Given the description of an element on the screen output the (x, y) to click on. 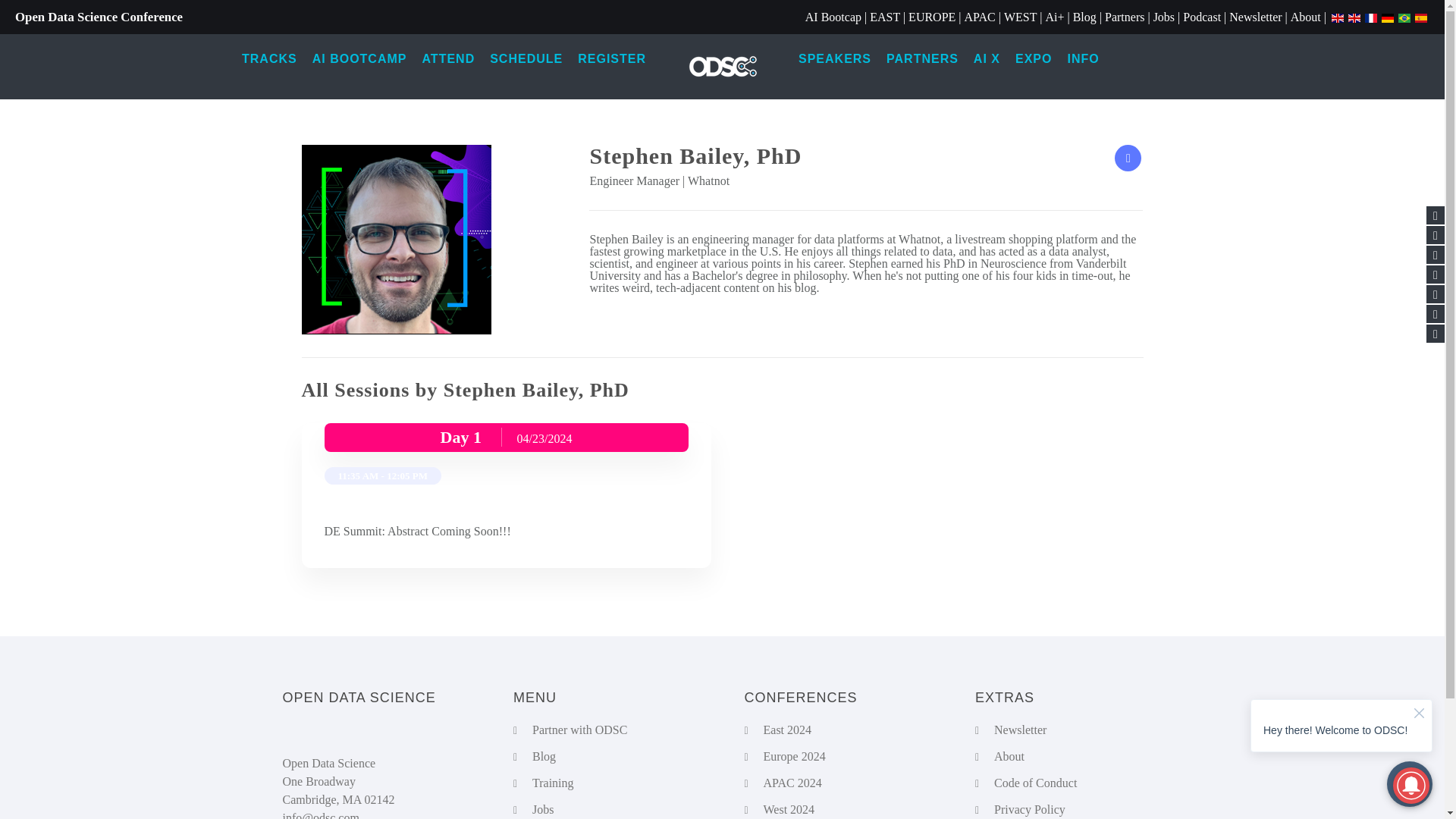
German (1387, 16)
TRACKS (269, 59)
French (1370, 16)
ATTEND (447, 59)
Podcast (1201, 16)
Jobs (1163, 16)
Jobs (1163, 16)
EUROPE (931, 16)
Podcast (1201, 16)
English (1353, 16)
Partners (1124, 16)
Newsletter (1254, 16)
Blog (1084, 16)
APAC (979, 16)
WEST (1020, 16)
